Given the description of an element on the screen output the (x, y) to click on. 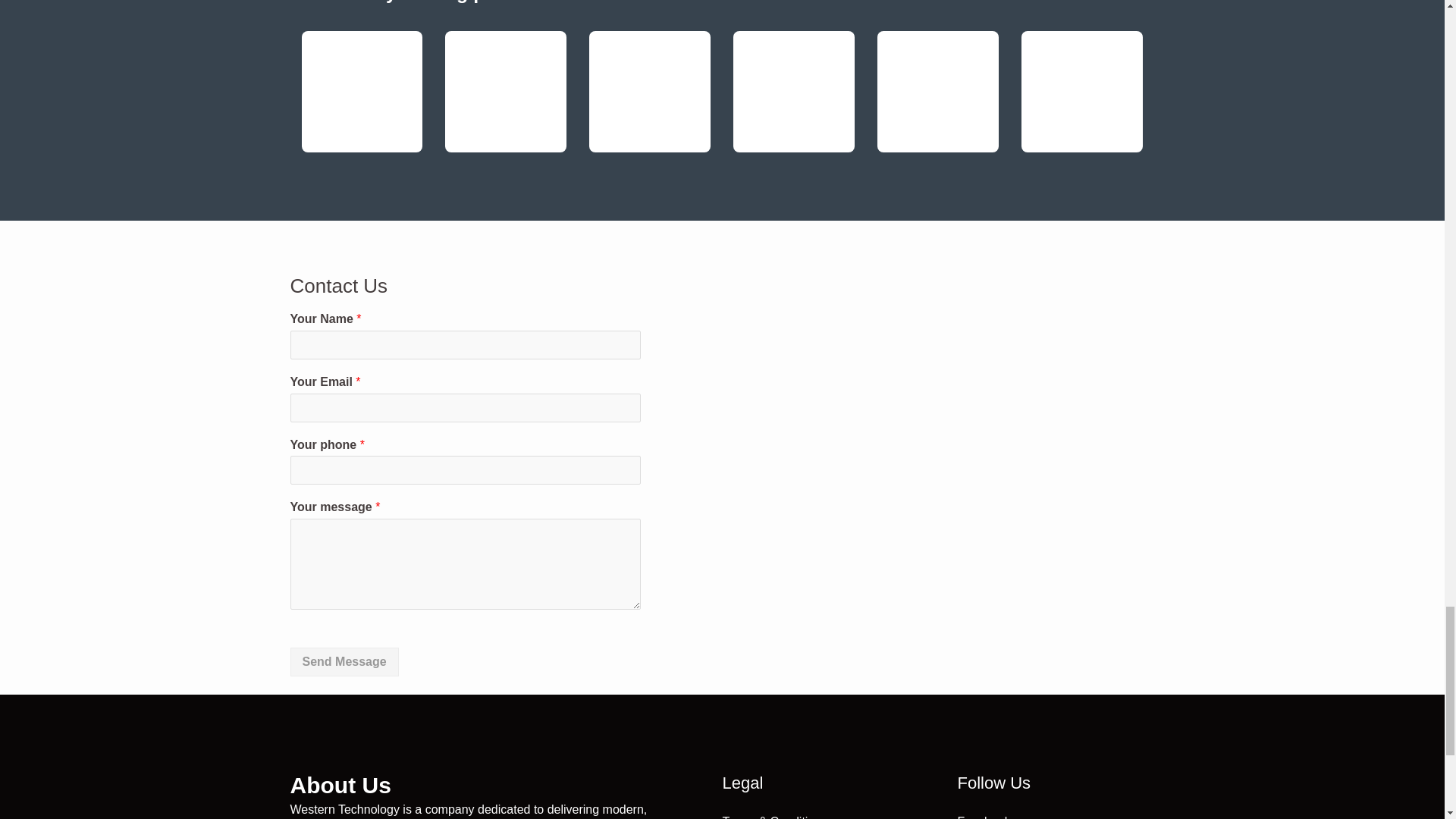
IT Support in Hovea 9 (505, 91)
IT Support in Hovea 10 (649, 59)
IT Support in Hovea 11 (794, 62)
IT Support in Hovea 13 (1082, 65)
IT Support in Hovea 8 (362, 66)
IT Support in Hovea 12 (938, 91)
